Given the description of an element on the screen output the (x, y) to click on. 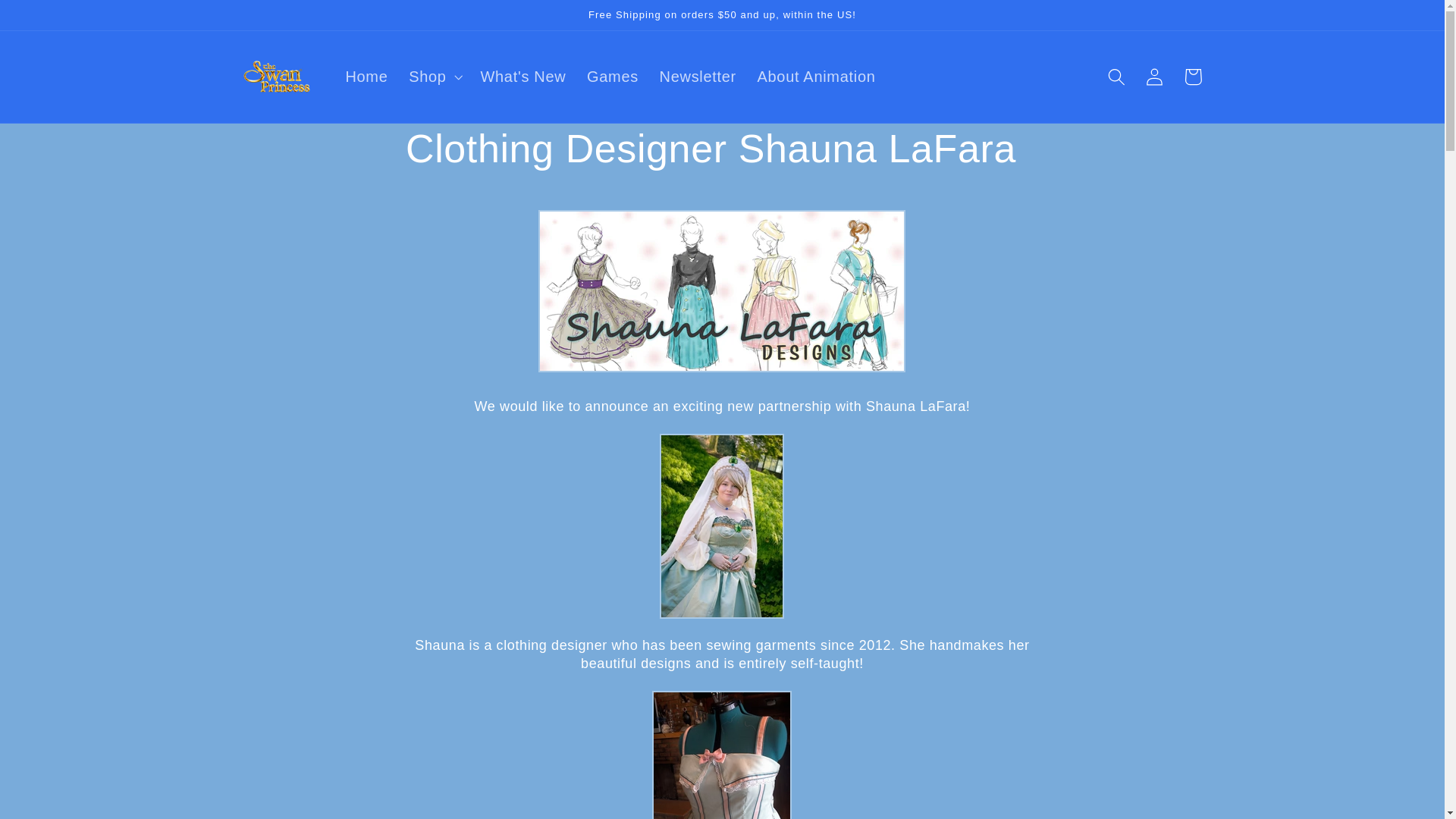
Home (366, 76)
Skip to content (52, 20)
What's New (523, 76)
